Given the description of an element on the screen output the (x, y) to click on. 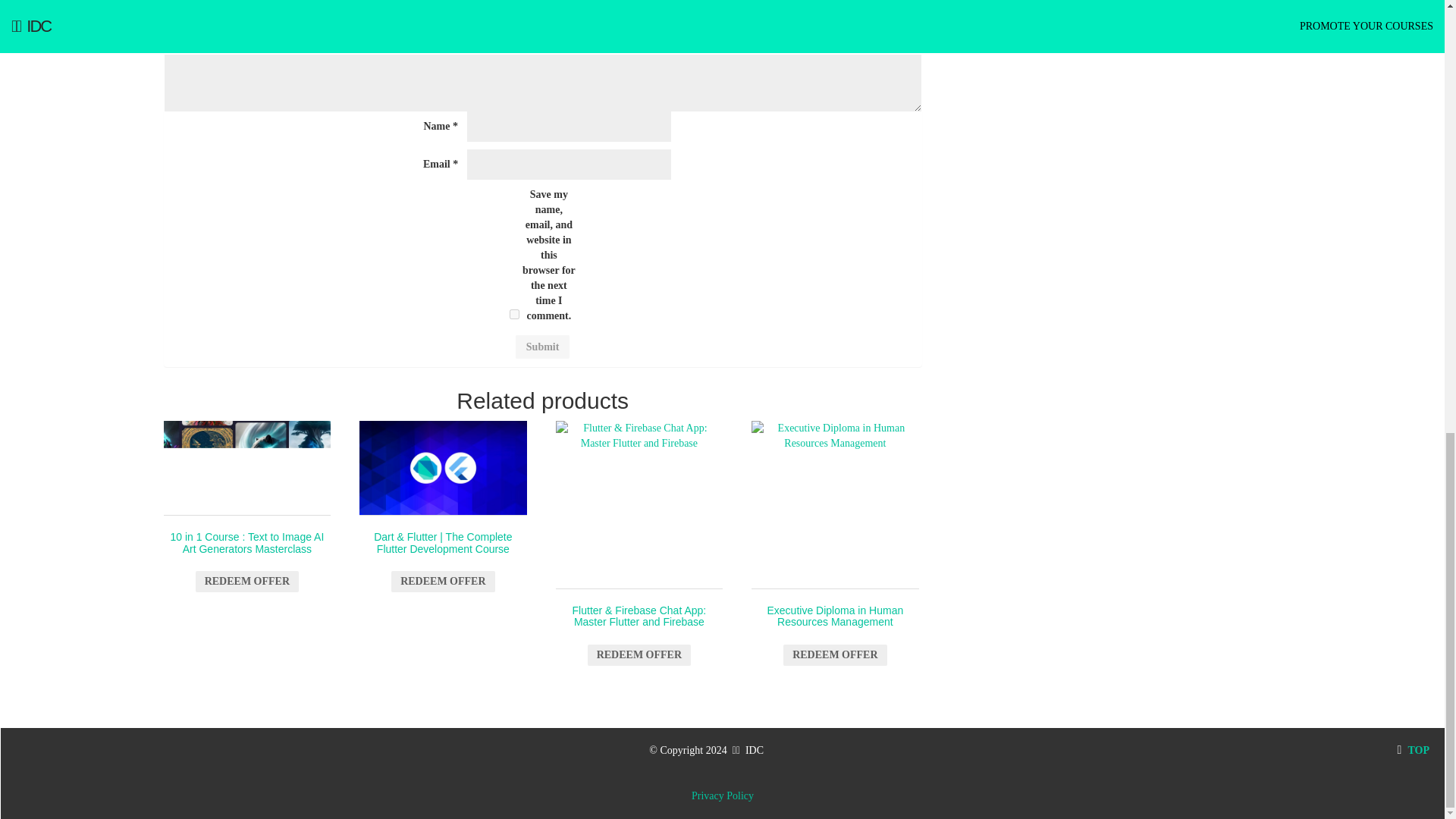
10 in 1 Course : Text to Image AI Art Generators Masterclass (247, 467)
REDEEM OFFER (246, 581)
Executive Diploma in Human Resources Management (834, 504)
TOP (1412, 749)
yes (514, 314)
REDEEM OFFER (639, 654)
Submit (542, 346)
Privacy Policy (722, 795)
Submit (542, 346)
REDEEM OFFER (834, 654)
REDEEM OFFER (443, 581)
10 in 1 Course : Text to Image AI Art Generators Masterclass (247, 503)
